Given the description of an element on the screen output the (x, y) to click on. 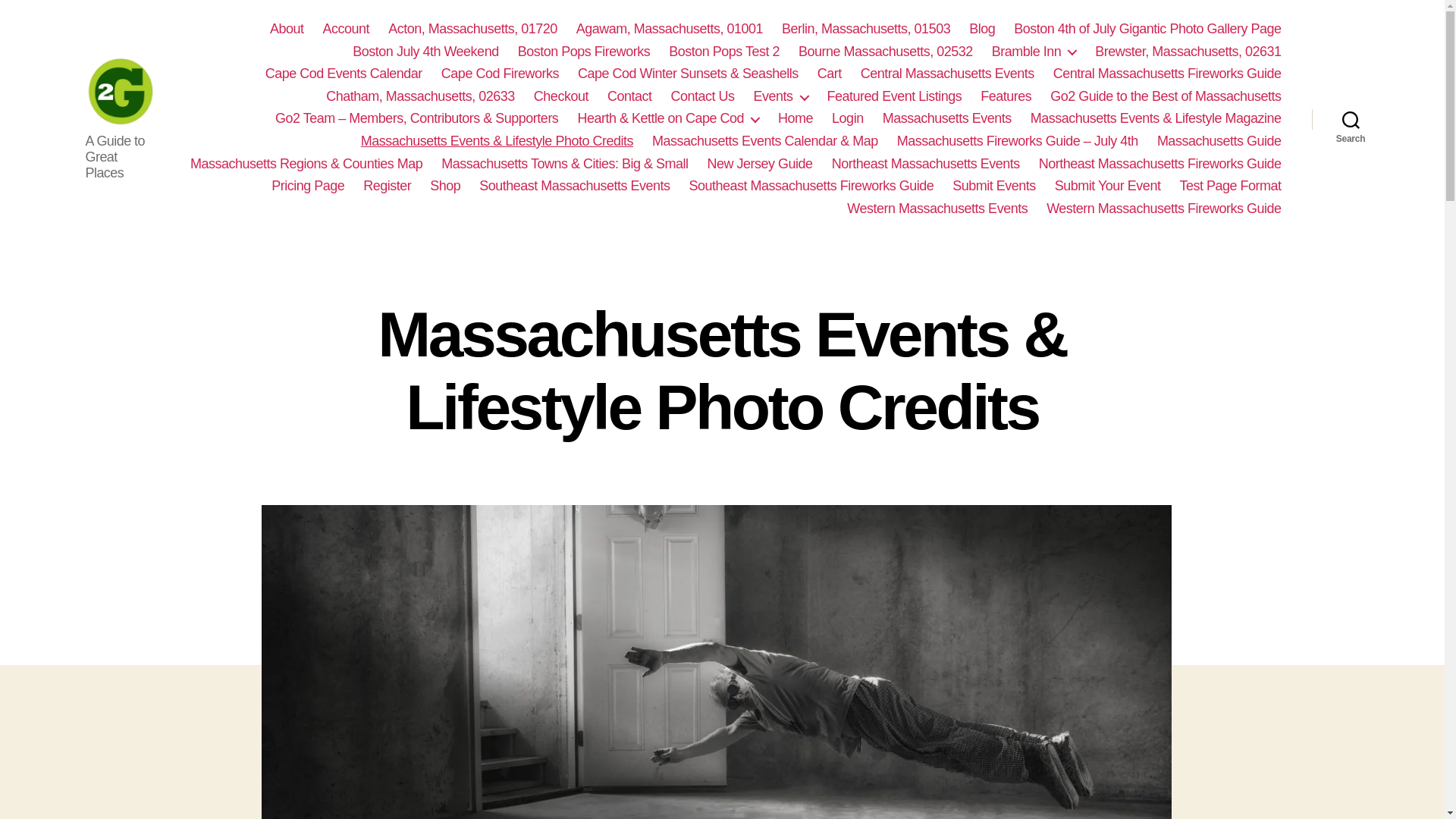
Berlin, Massachusetts, 01503 (865, 29)
Boston Pops Test 2 (723, 52)
Cape Cod Events Calendar (343, 74)
Events (781, 96)
Cart (828, 74)
Checkout (561, 96)
Contact (629, 96)
Central Massachusetts Fireworks Guide (1166, 74)
Boston 4th of July Gigantic Photo Gallery Page (1147, 29)
Bourne Massachusetts, 02532 (884, 52)
